Given the description of an element on the screen output the (x, y) to click on. 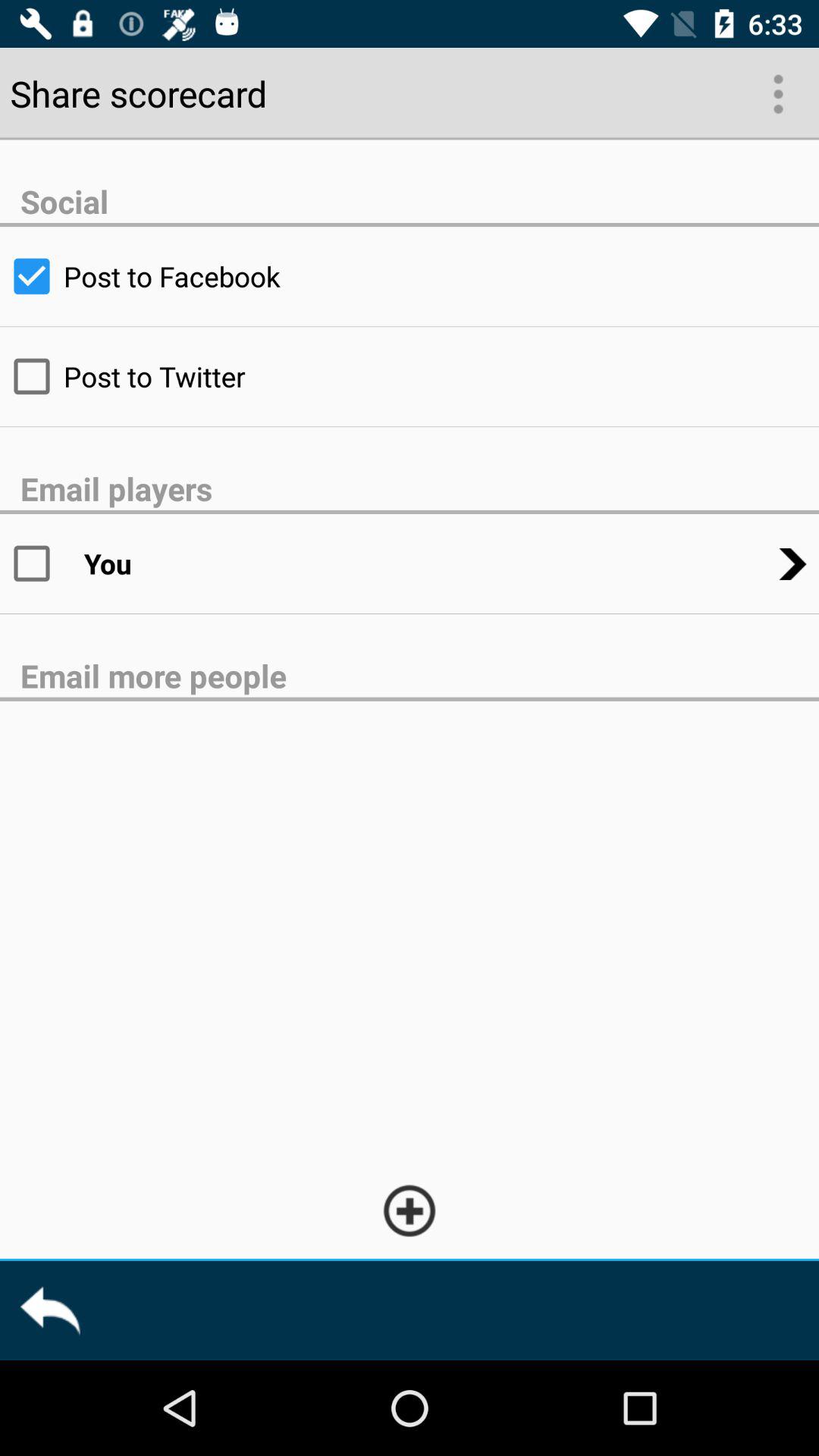
choose icon next to the share scorecard item (776, 92)
